Given the description of an element on the screen output the (x, y) to click on. 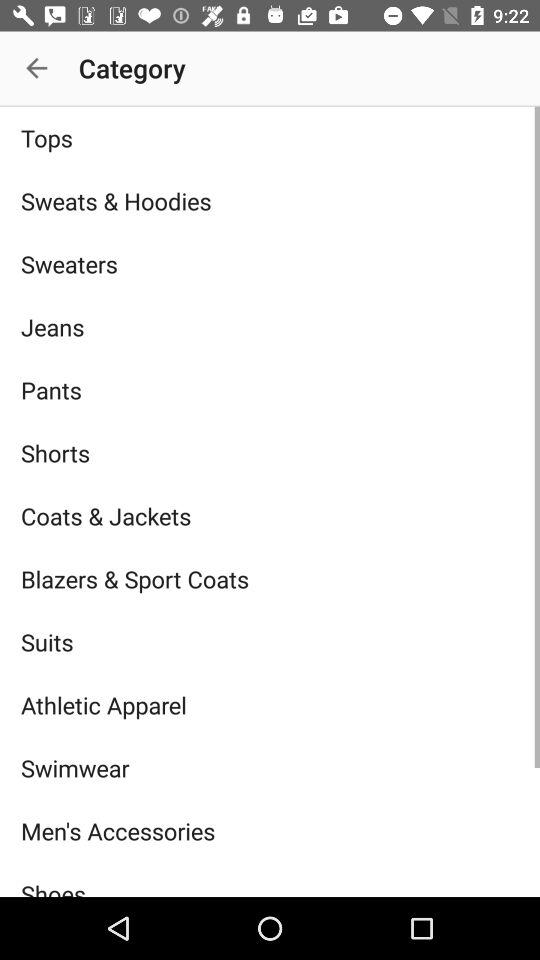
press the item above the shorts icon (270, 389)
